Given the description of an element on the screen output the (x, y) to click on. 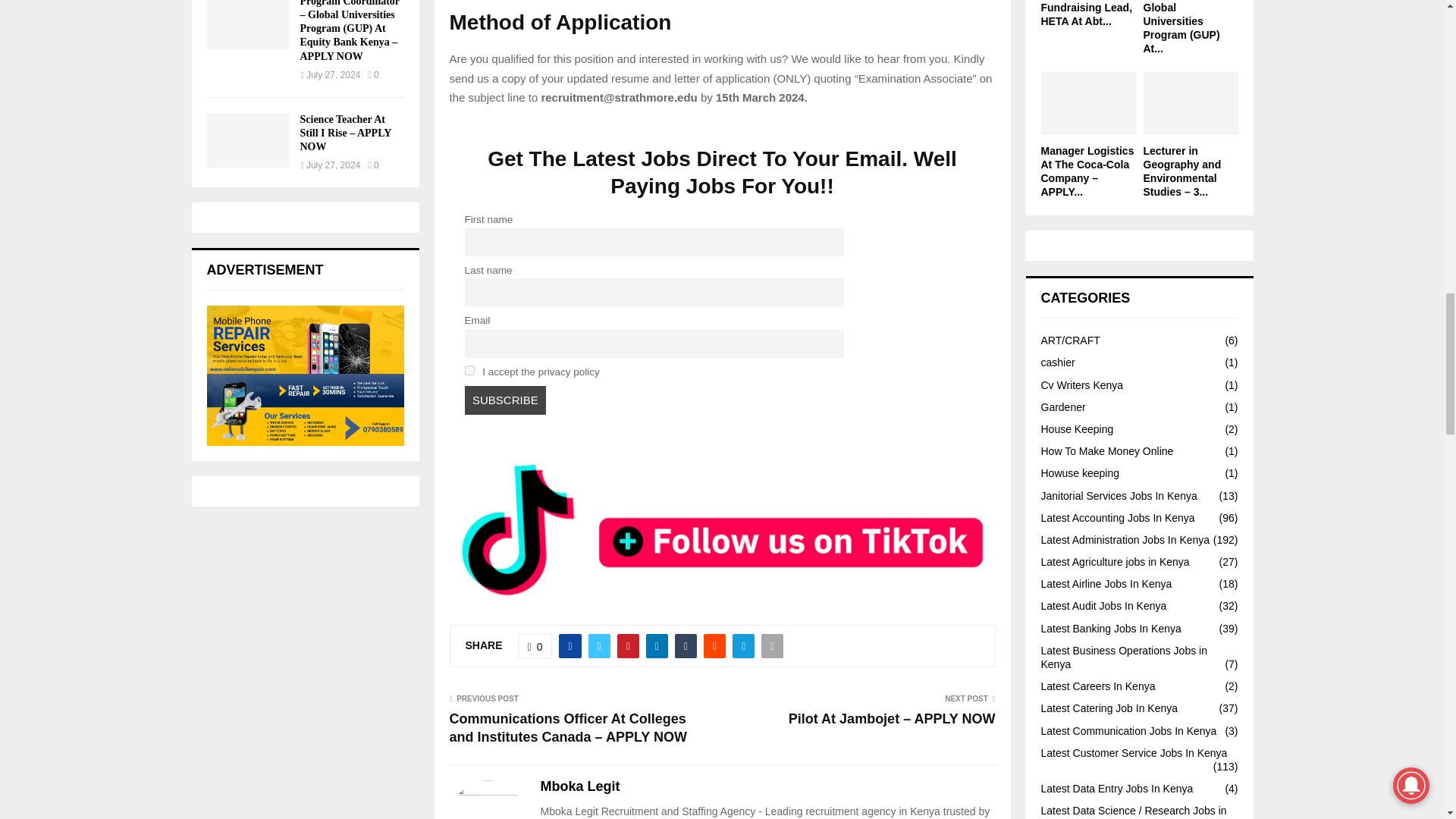
Subscribe (505, 399)
on (469, 370)
